Given the description of an element on the screen output the (x, y) to click on. 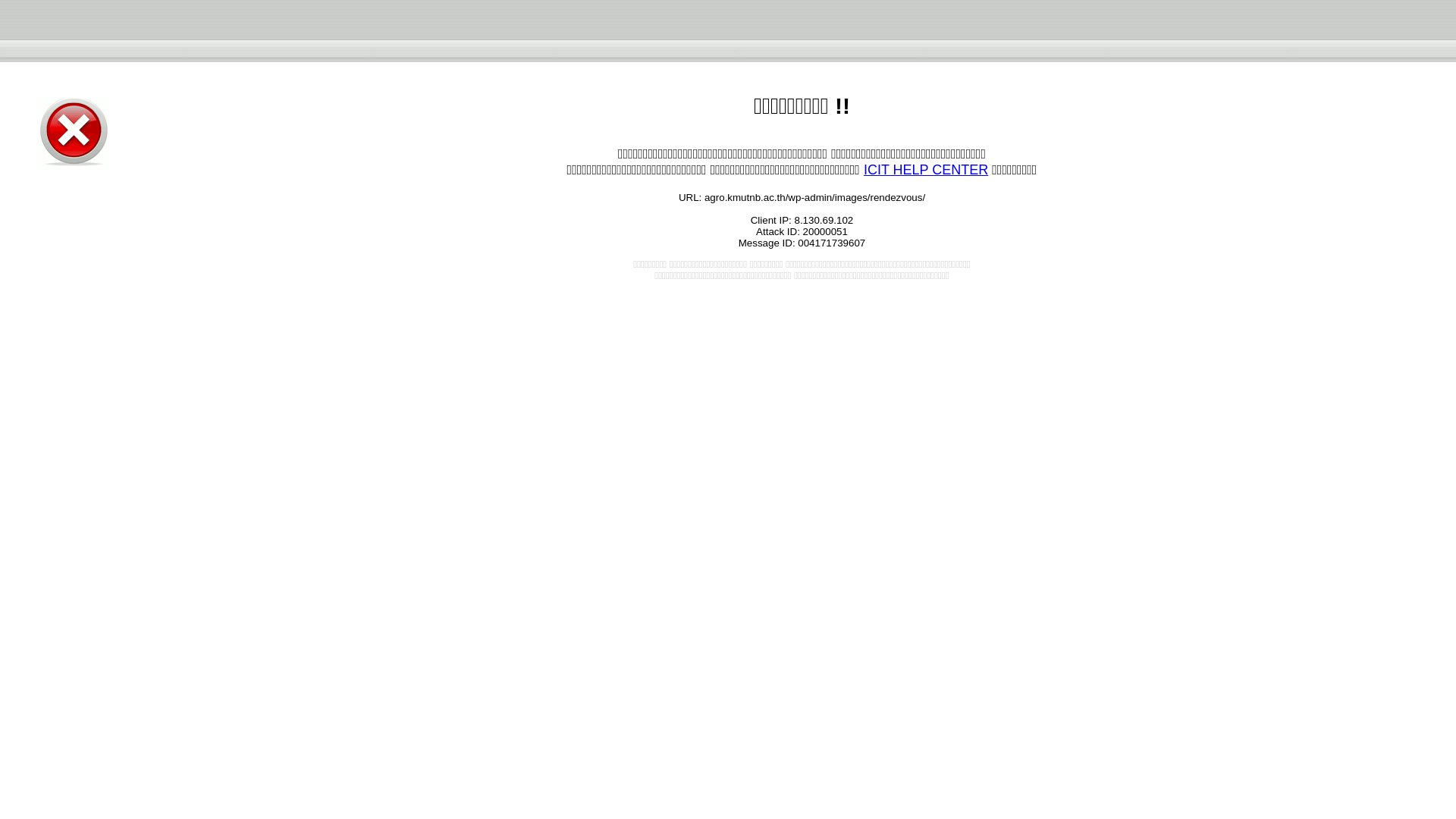
ICIT HELP CENTER (925, 169)
